Given the description of an element on the screen output the (x, y) to click on. 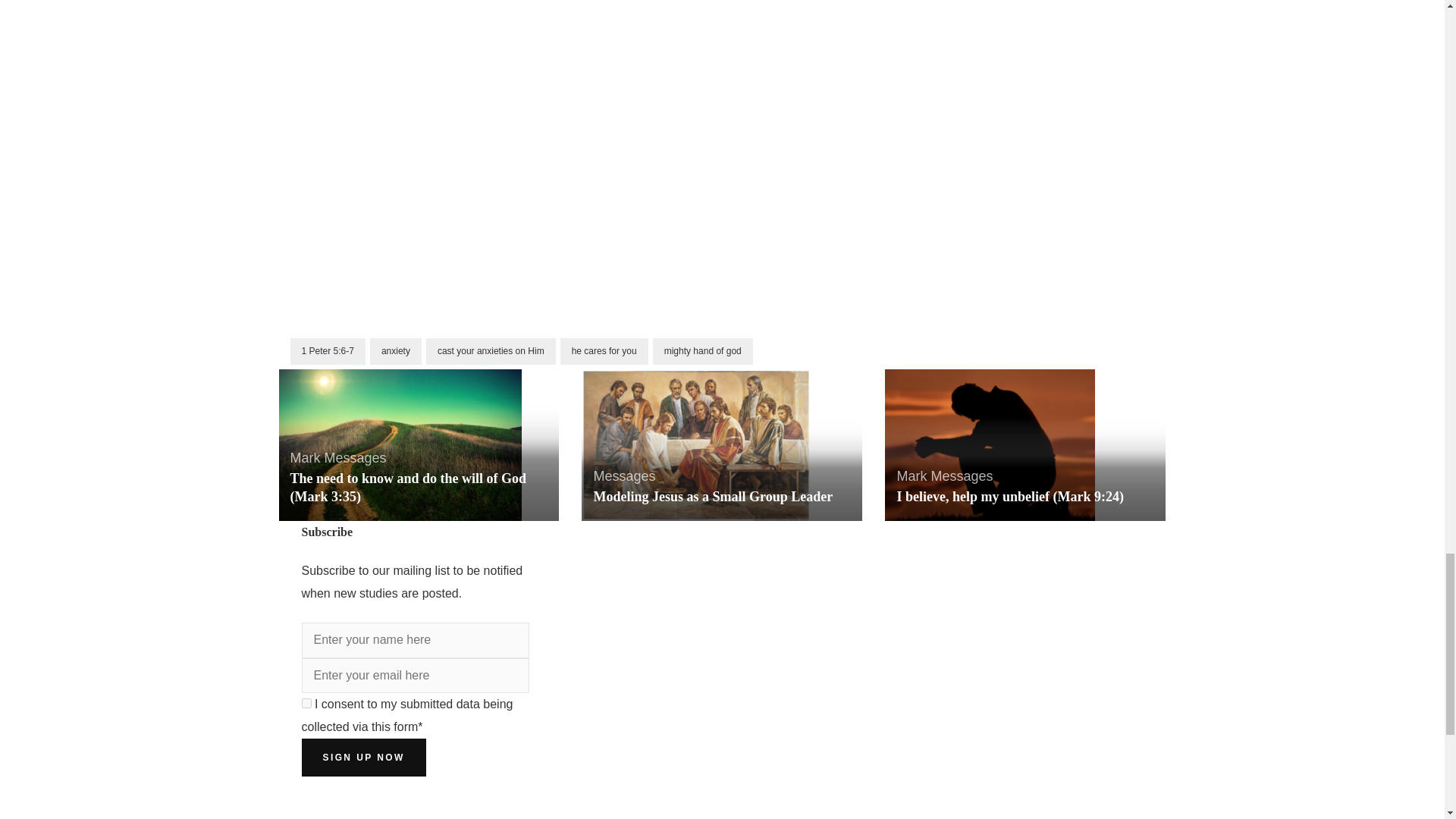
Sign Up Now (363, 757)
Enter your name here (415, 640)
Mark (304, 458)
he cares for you (603, 351)
Messages (355, 458)
mighty hand of god (702, 351)
1 Peter 5:6-7 (327, 351)
cast your anxieties on Him (491, 351)
anxiety (395, 351)
